Given the description of an element on the screen output the (x, y) to click on. 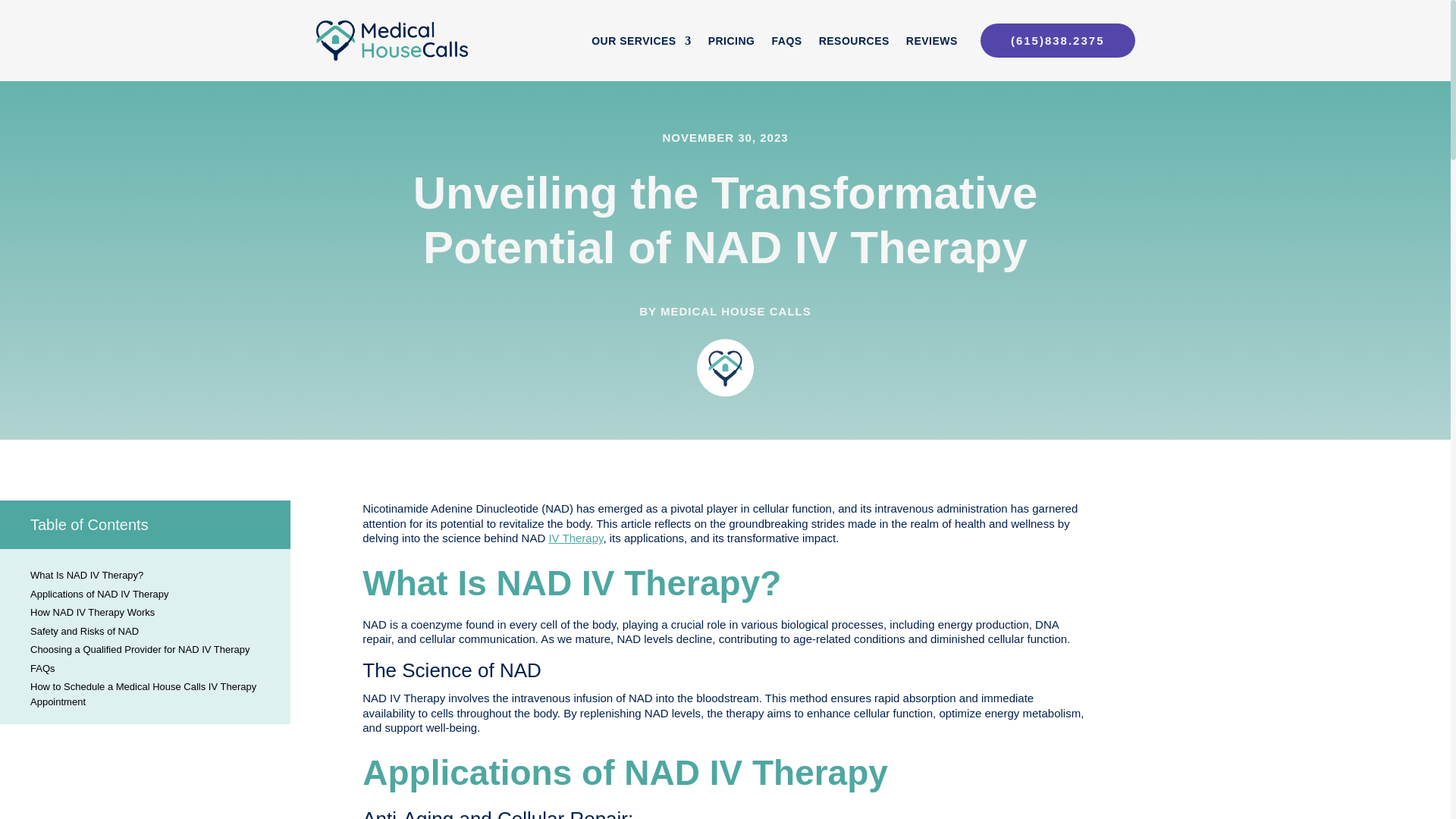
PRICING (731, 44)
medical-house-calls-logo (725, 367)
OUR SERVICES (641, 44)
What Is NAD IV Therapy? (156, 575)
REVIEWS (931, 44)
FAQS (786, 44)
RESOURCES (853, 44)
